Given the description of an element on the screen output the (x, y) to click on. 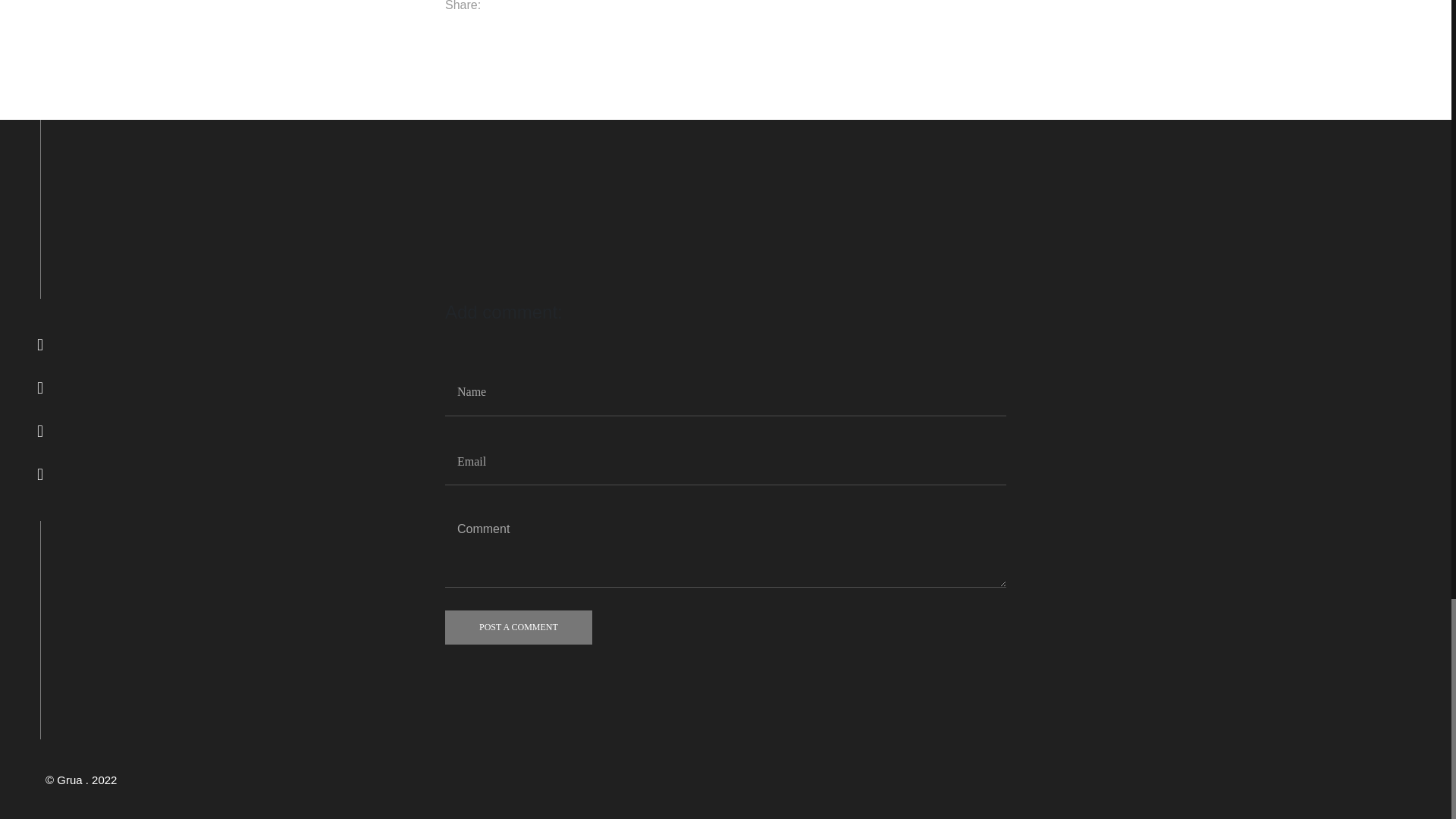
POST A COMMENT (518, 627)
